Given the description of an element on the screen output the (x, y) to click on. 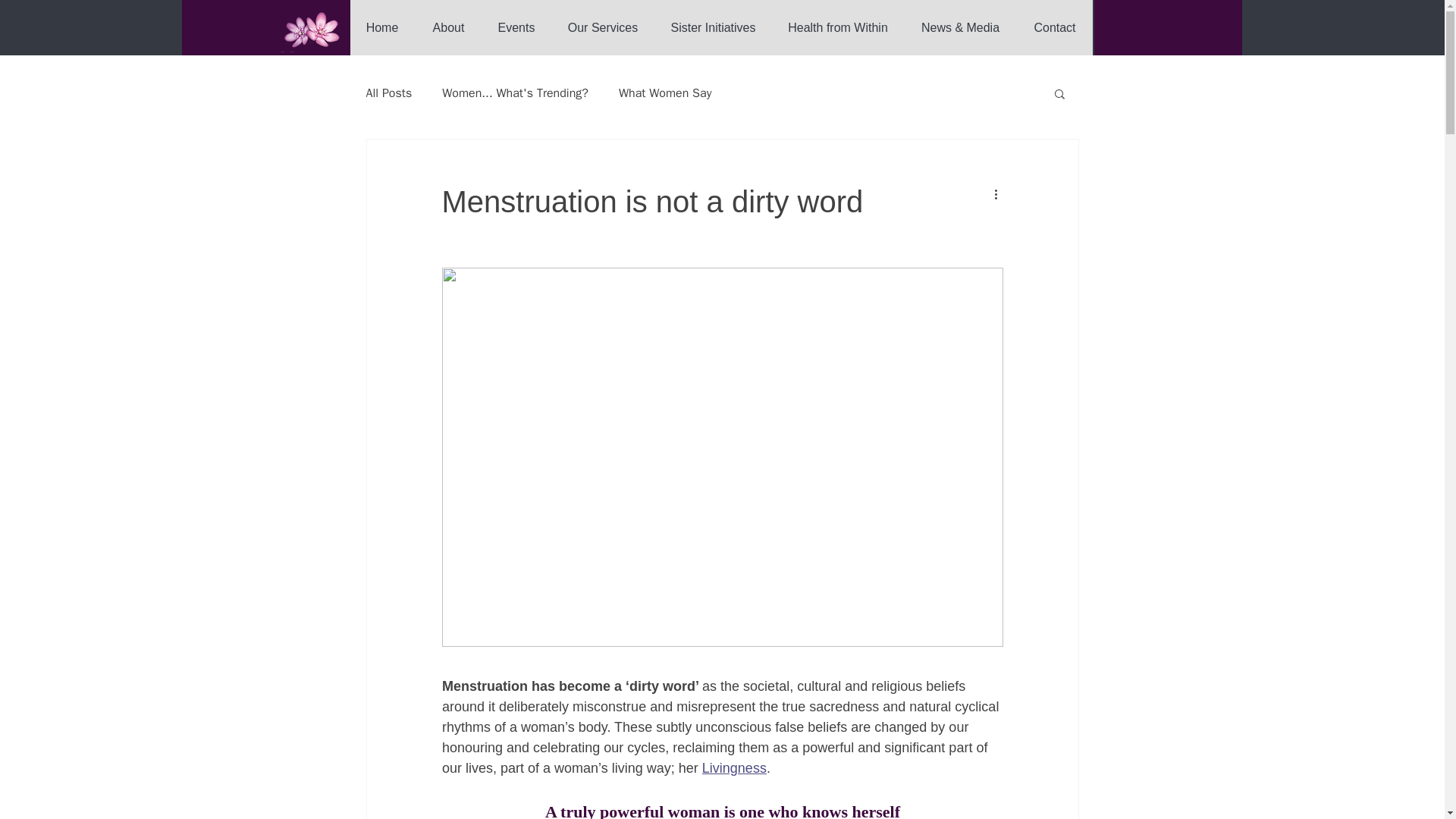
Health from Within (837, 27)
Our Services (601, 27)
Events (515, 27)
Sister Initiatives (712, 27)
Contact (1054, 27)
Livingness (733, 767)
All Posts (388, 92)
Home (381, 27)
About (447, 27)
Women... What's Trending? (515, 92)
